Given the description of an element on the screen output the (x, y) to click on. 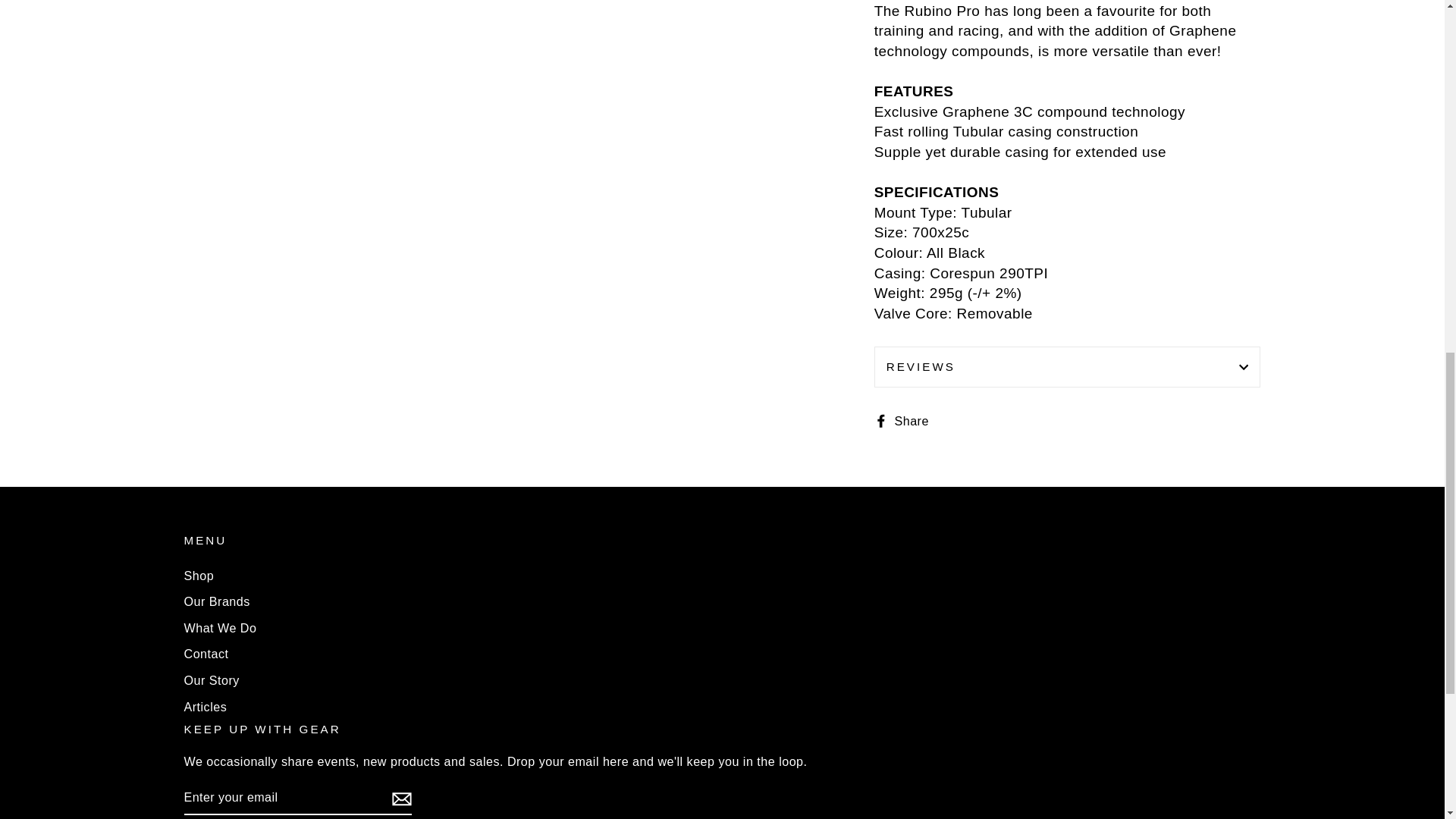
Share on Facebook (907, 419)
